Given the description of an element on the screen output the (x, y) to click on. 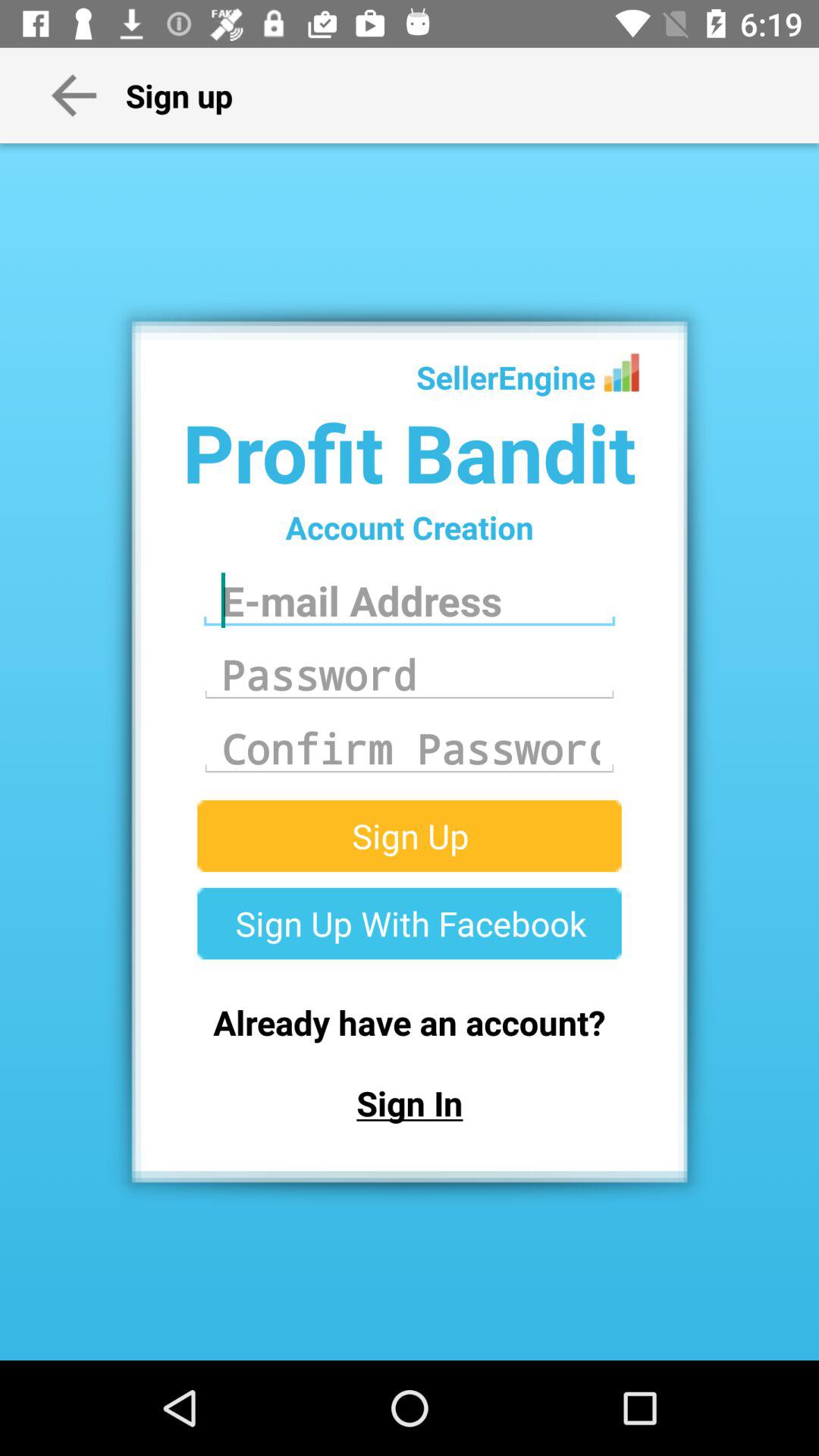
click on the arrow beside sign up (74, 95)
select the text field which is below the email address (409, 674)
click the button on the top left corner of the web page (74, 95)
click on sign in (409, 1103)
select the sign up buttton (409, 835)
select the text field password (409, 674)
